Given the description of an element on the screen output the (x, y) to click on. 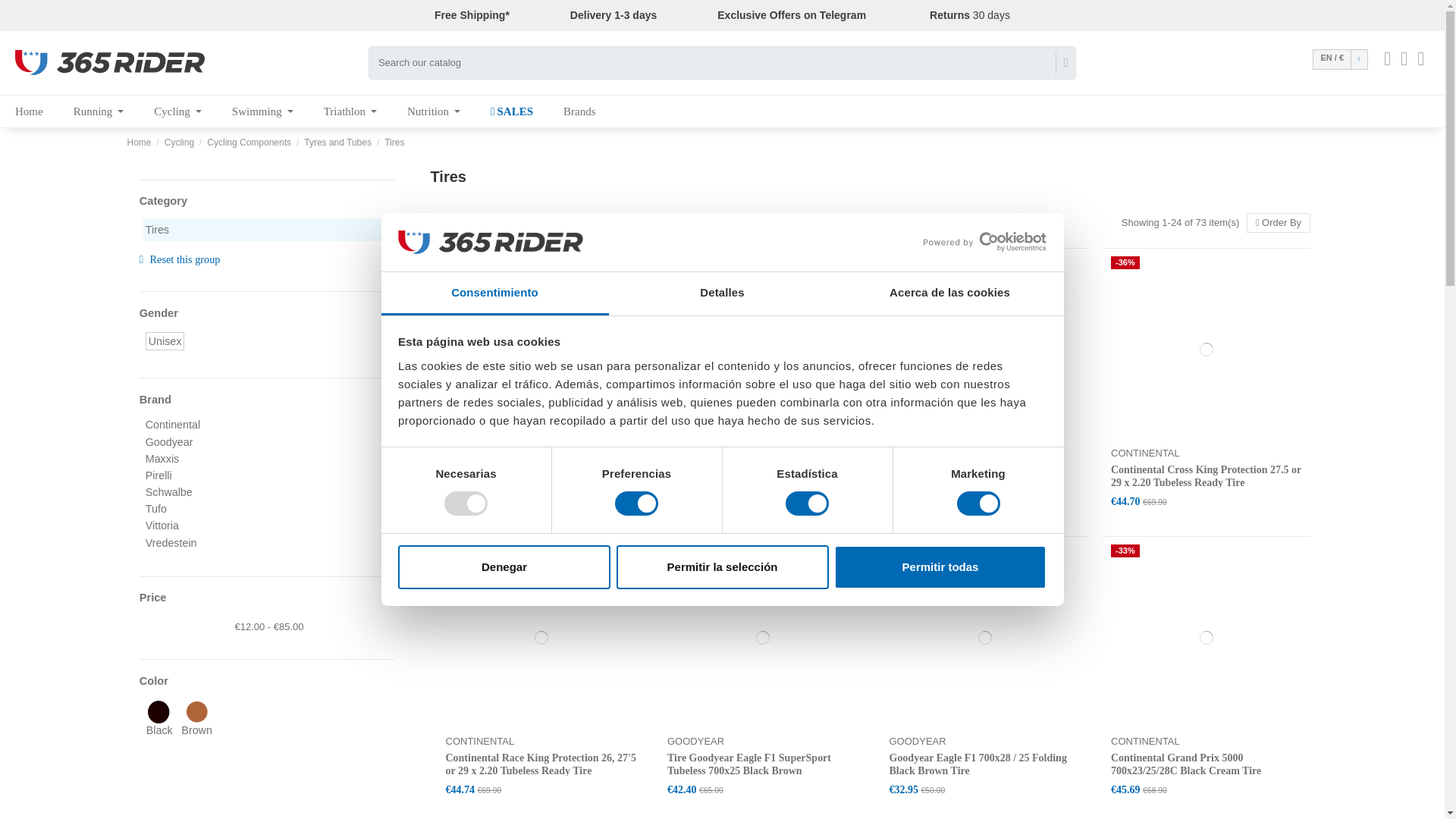
Consentimiento (494, 293)
Detalles (721, 293)
Acerca de las cookies (948, 293)
